Given the description of an element on the screen output the (x, y) to click on. 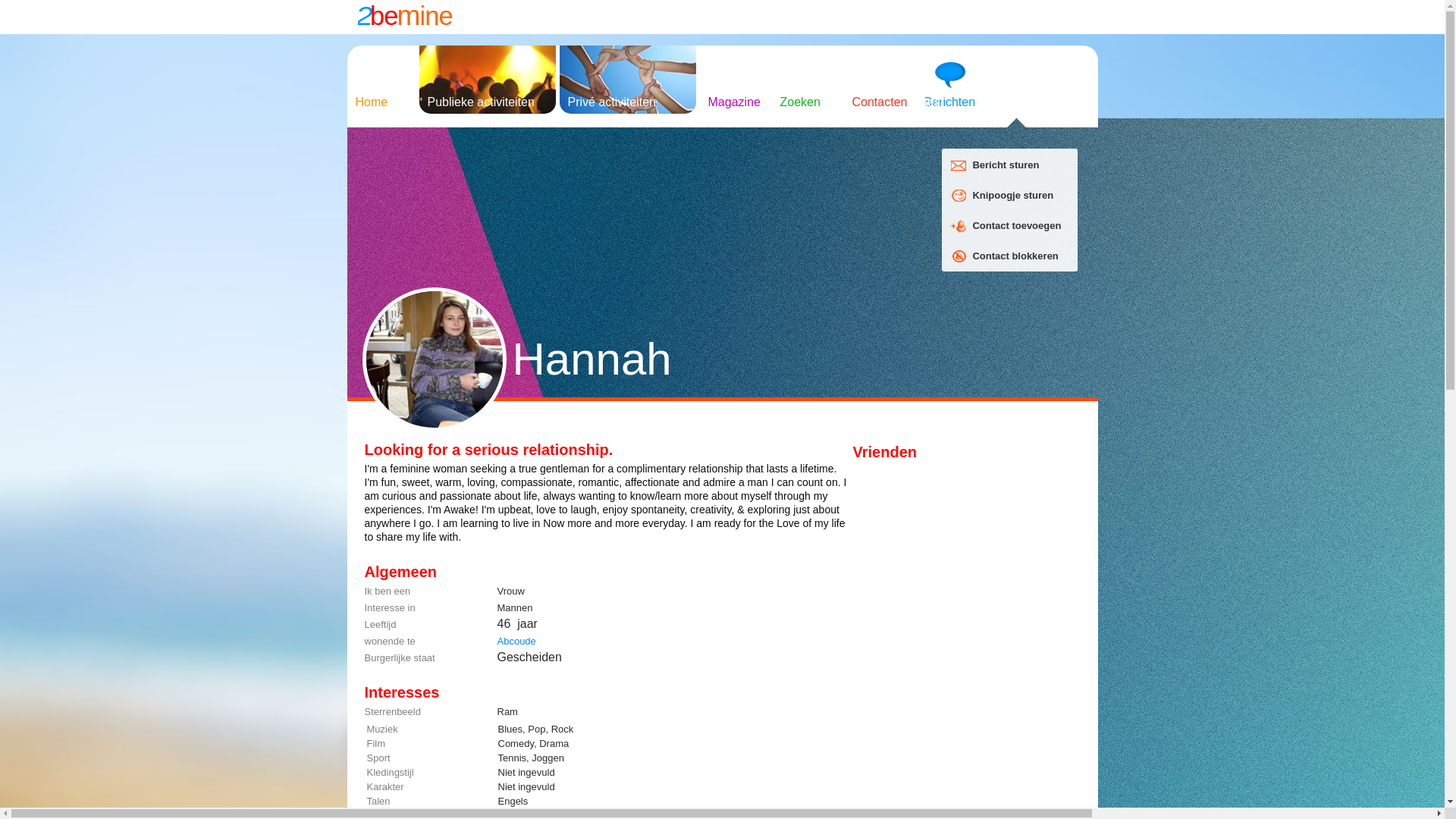
Online status Element type: hover (722, 399)
Knipoogje sturen Element type: text (1012, 194)
Contact blokkeren Element type: hover (958, 256)
Contact blokkeren Element type: text (1014, 255)
Contact toevoegen Element type: hover (958, 195)
Bericht sturen Element type: text (1005, 164)
Abcoude Element type: text (516, 640)
Contact toevoegen Element type: hover (958, 225)
Contact toevoegen Element type: text (1016, 225)
Bericht sturen Element type: hover (958, 165)
